Given the description of an element on the screen output the (x, y) to click on. 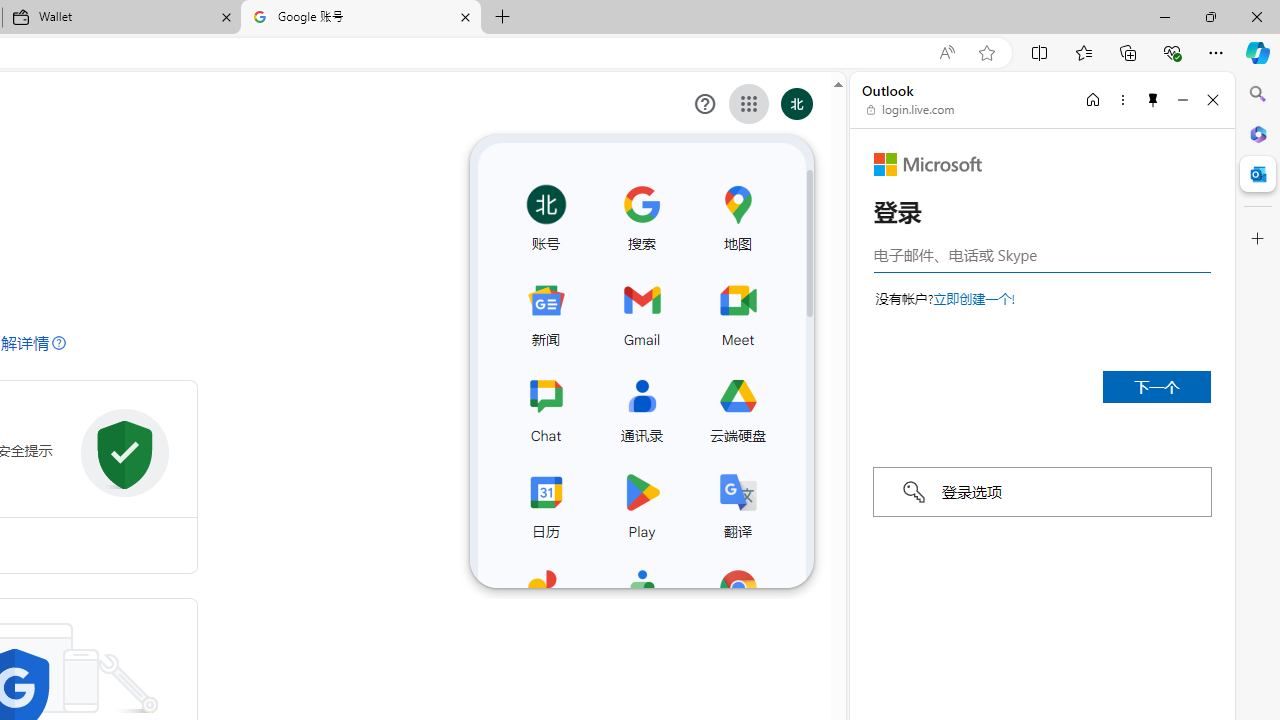
login.live.com (911, 110)
